Given the description of an element on the screen output the (x, y) to click on. 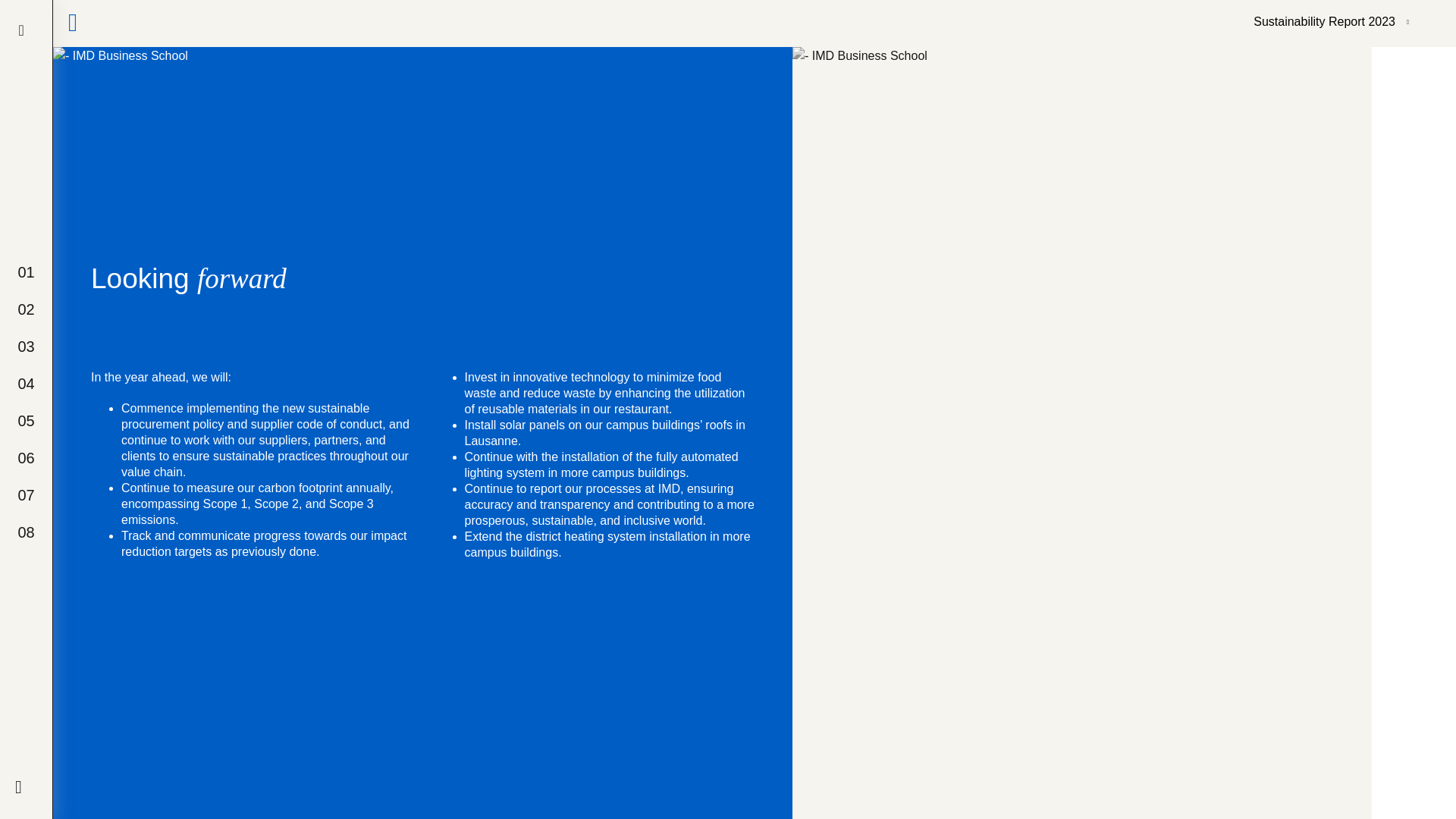
03 (26, 346)
01 (26, 272)
02 (26, 309)
06 (26, 457)
04 (26, 383)
05 (26, 420)
